Given the description of an element on the screen output the (x, y) to click on. 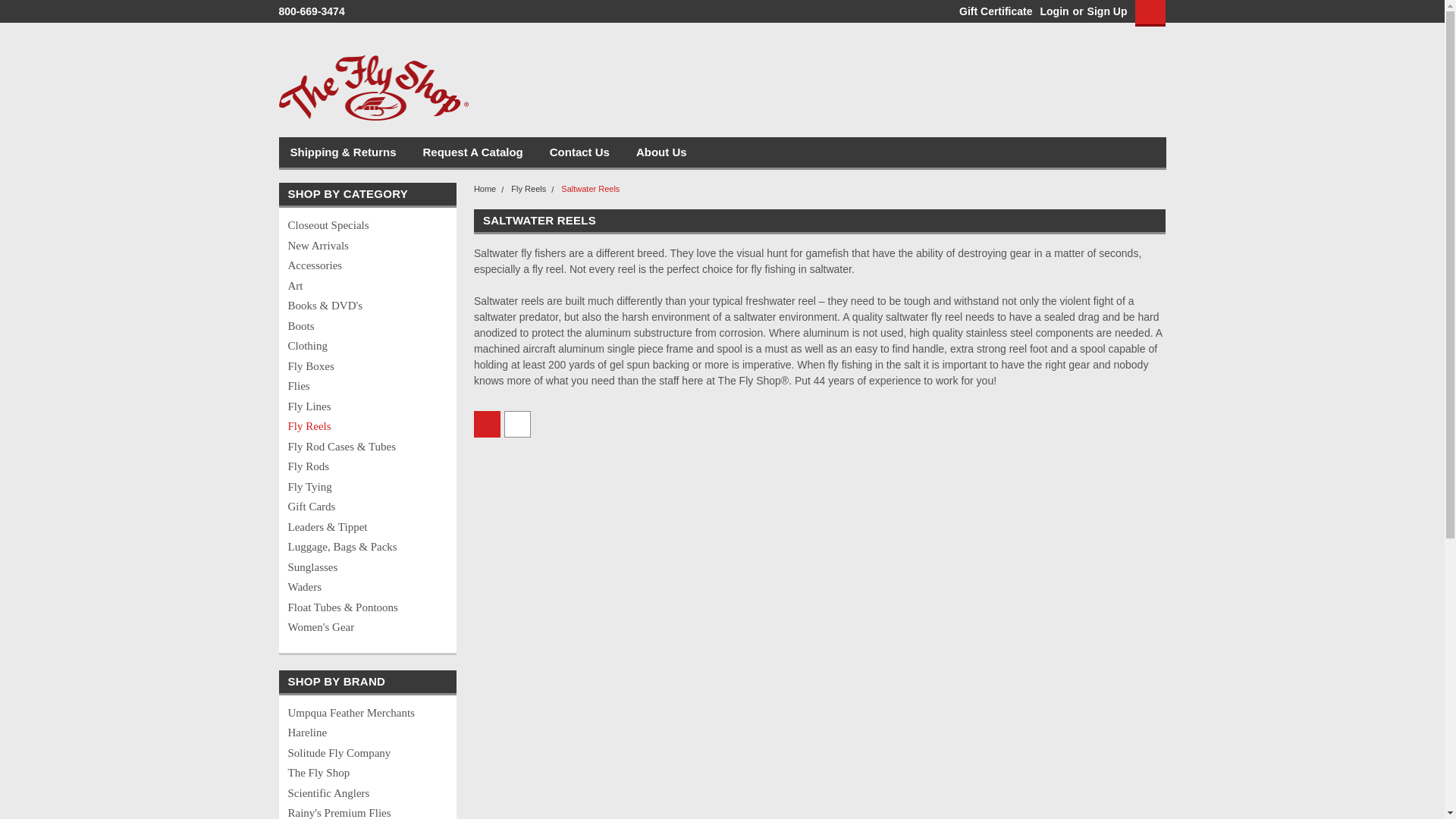
Gift Certificate (992, 11)
Sign Up (1104, 11)
The Fly Shop (373, 87)
Login (1054, 11)
